Given the description of an element on the screen output the (x, y) to click on. 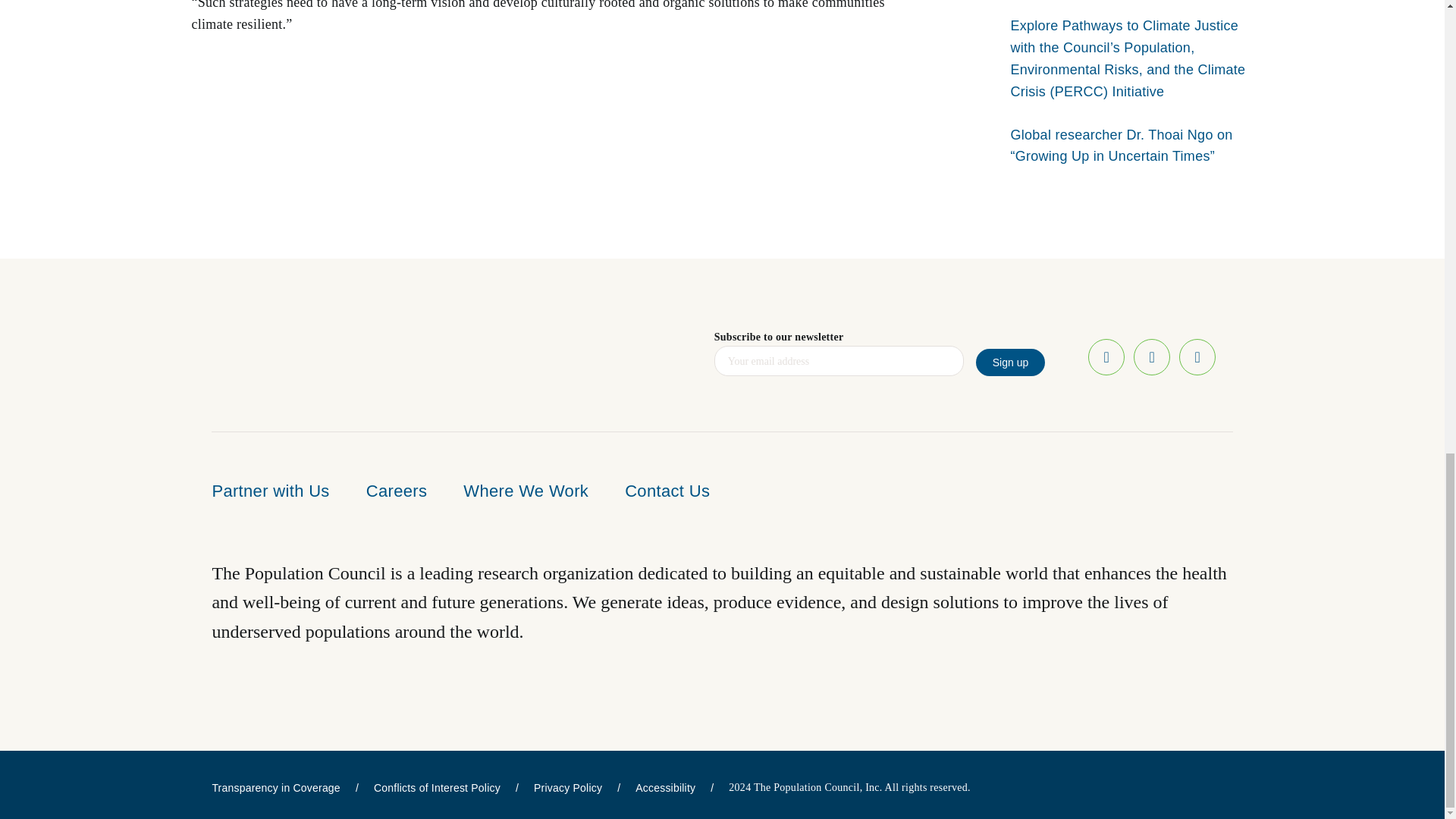
Facebook (1105, 357)
X (1152, 357)
LinkedIn (1197, 357)
Sign up (1010, 361)
